Given the description of an element on the screen output the (x, y) to click on. 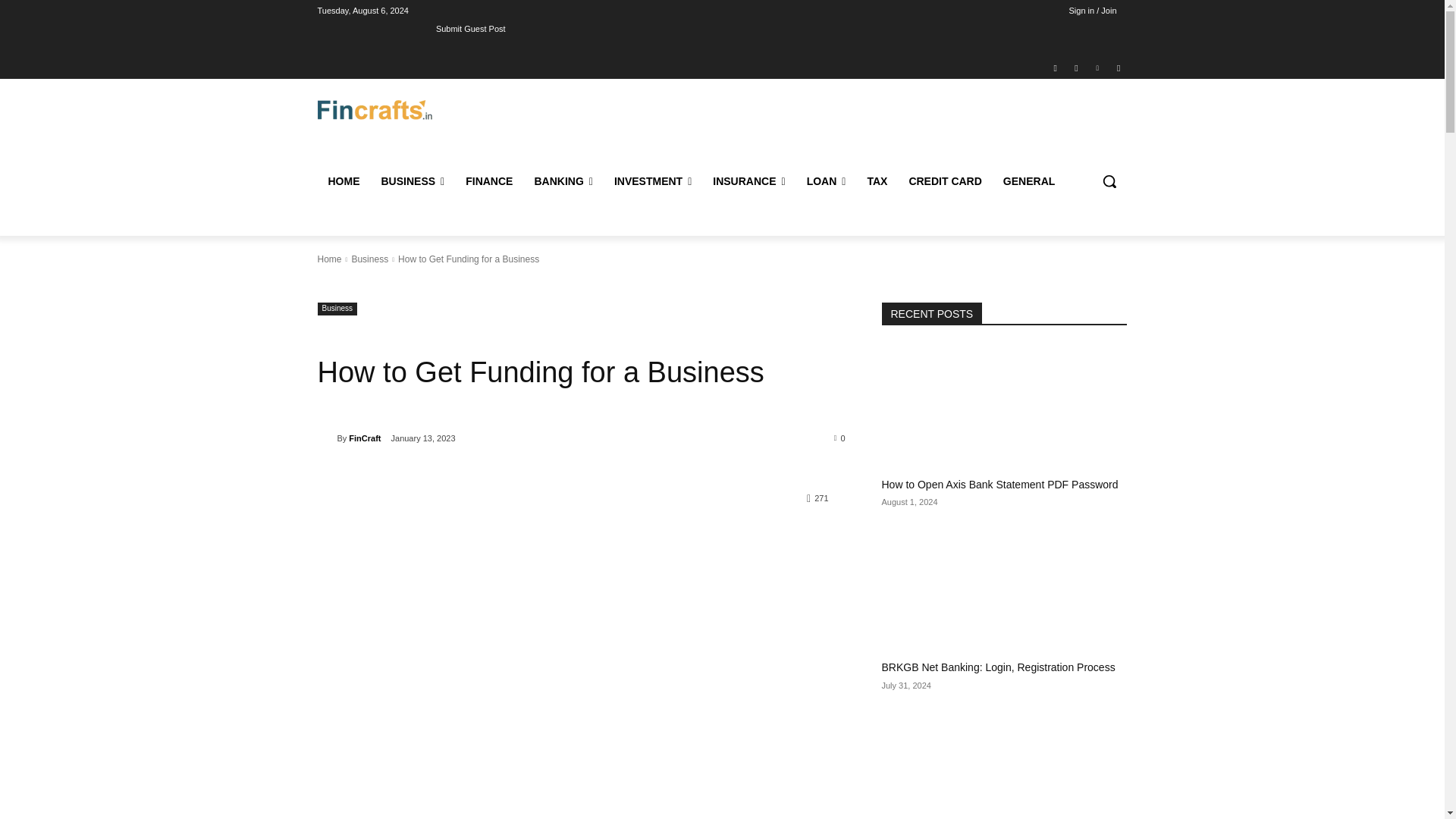
Twitter (1117, 67)
Instagram (1075, 67)
FinCraft (326, 437)
View all posts in Business (369, 258)
Linkedin (1097, 67)
Submit Guest Post (470, 28)
Facebook (1055, 67)
